Given the description of an element on the screen output the (x, y) to click on. 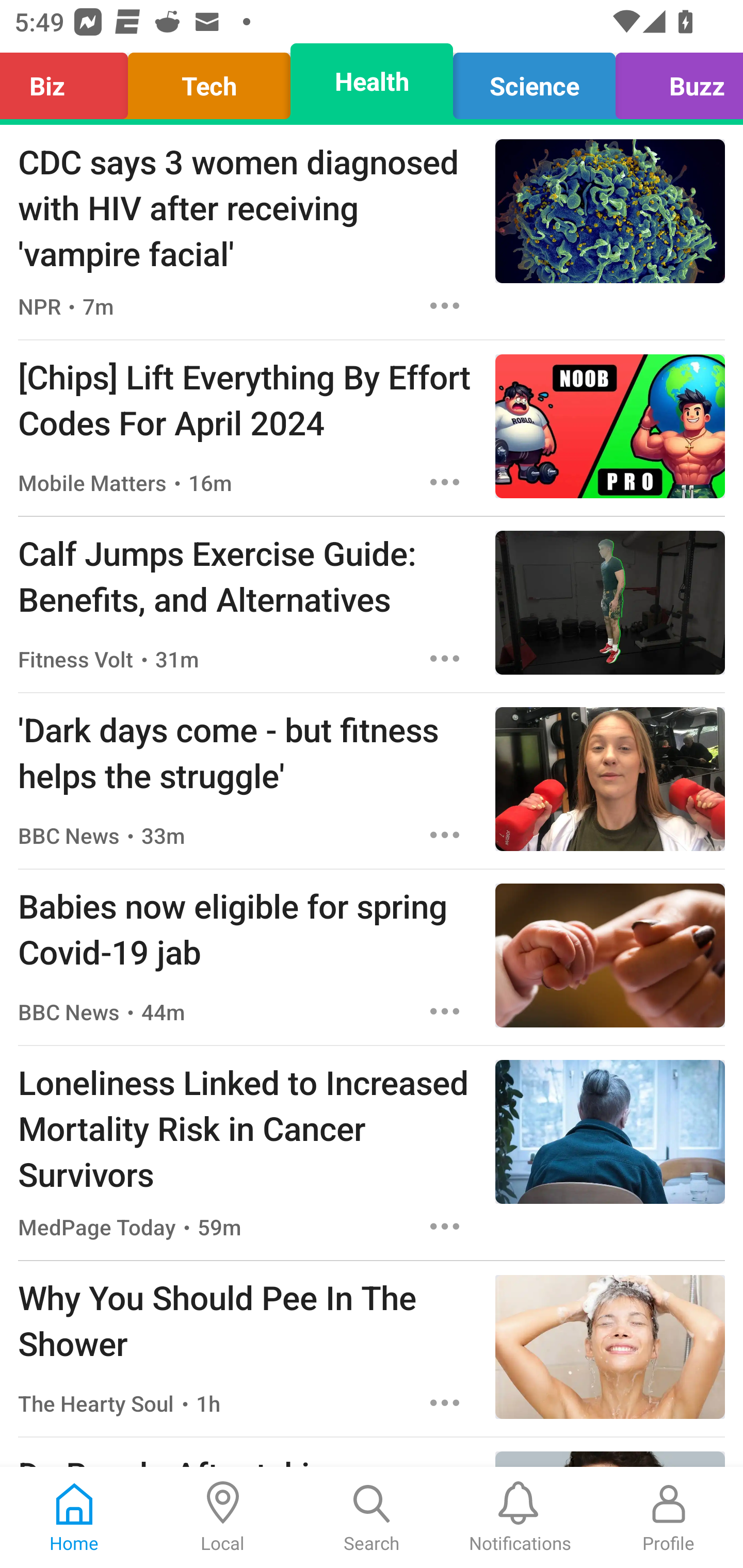
Biz (69, 81)
Tech (209, 81)
Health (371, 81)
Science (534, 81)
Buzz (673, 81)
Options (444, 305)
Options (444, 481)
Options (444, 658)
Options (444, 834)
Options (444, 1011)
Options (444, 1226)
Options (444, 1403)
Local (222, 1517)
Search (371, 1517)
Notifications (519, 1517)
Profile (668, 1517)
